Given the description of an element on the screen output the (x, y) to click on. 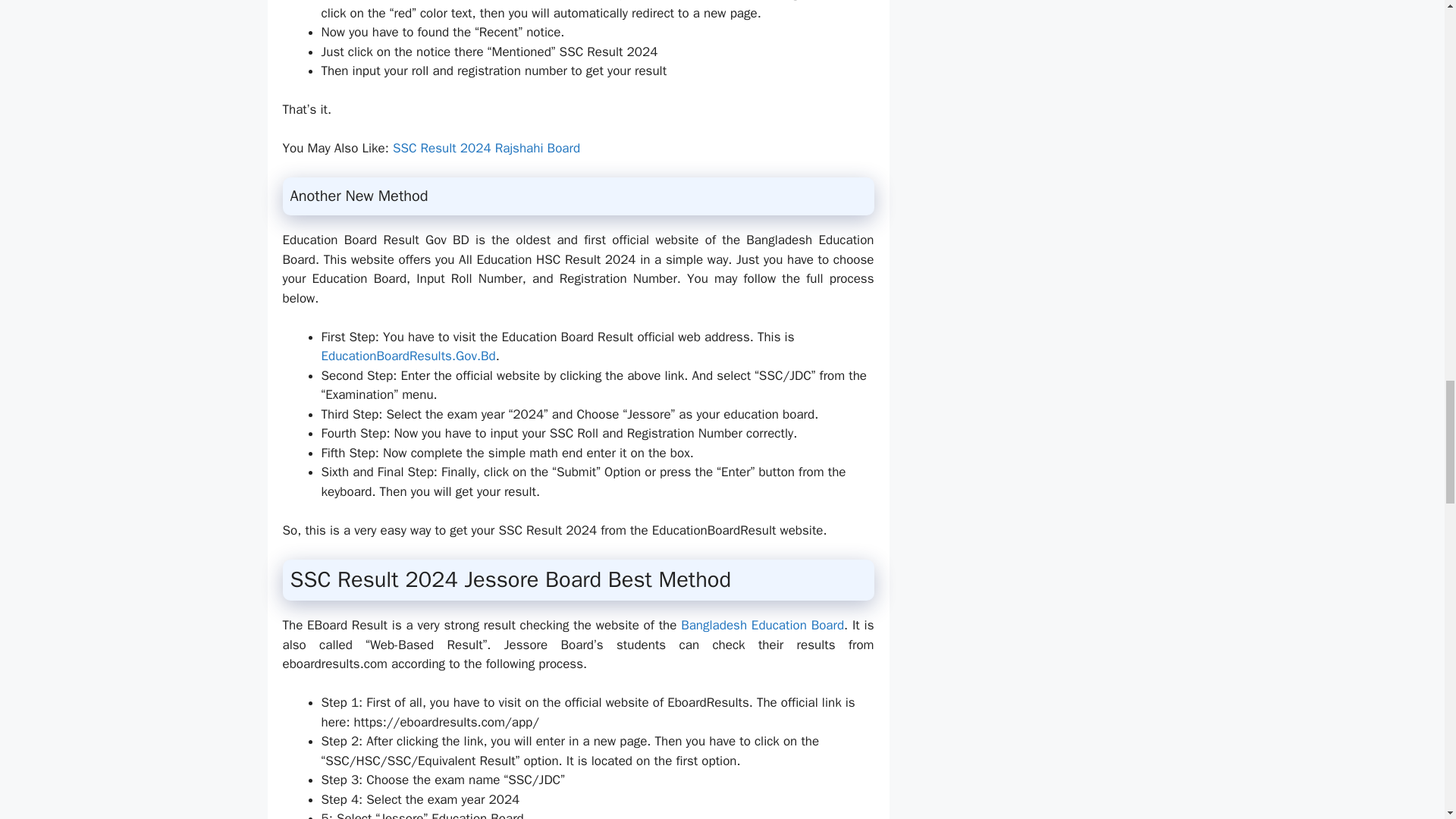
SSC Result 2024 Rajshahi Board (486, 148)
EducationBoardResults.Gov.Bd (408, 355)
Bangladesh Education Board (762, 625)
